Given the description of an element on the screen output the (x, y) to click on. 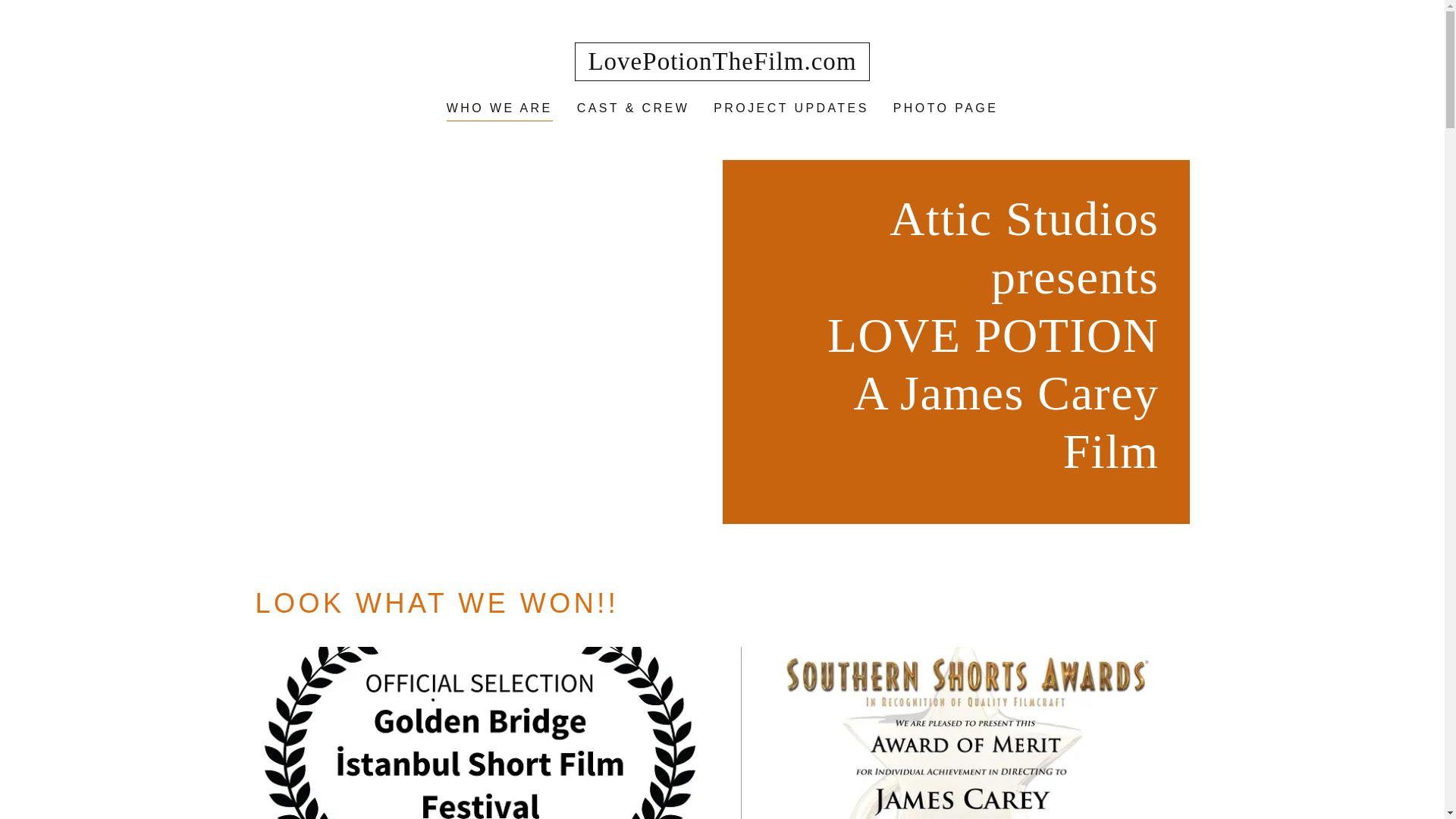
PHOTO PAGE (945, 108)
WHO WE ARE (499, 110)
LovePotionTheFilm.com (722, 64)
LovePotionTheFilm.com (722, 64)
PROJECT UPDATES (791, 108)
